Given the description of an element on the screen output the (x, y) to click on. 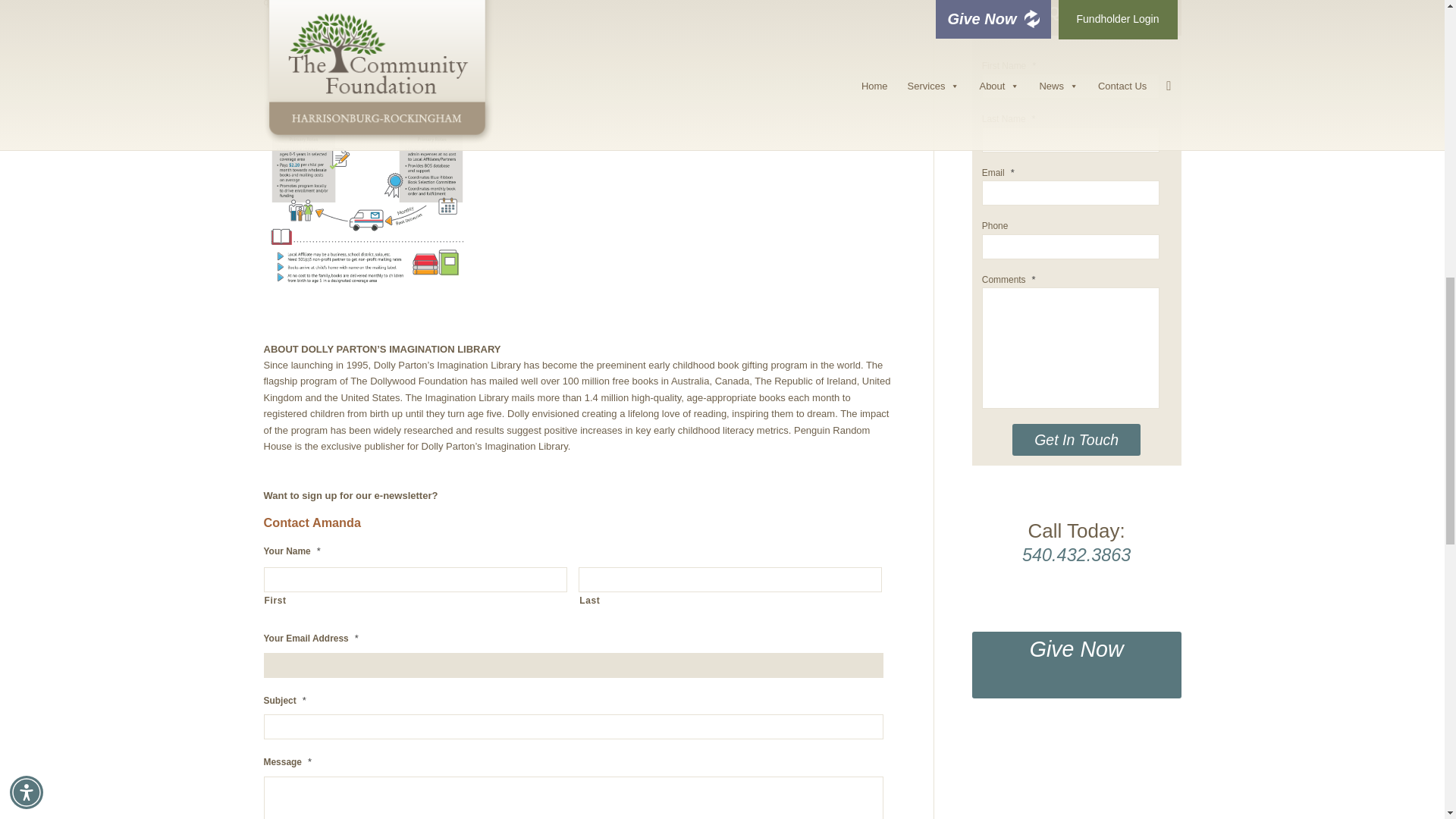
Get In Touch (1075, 440)
